Given the description of an element on the screen output the (x, y) to click on. 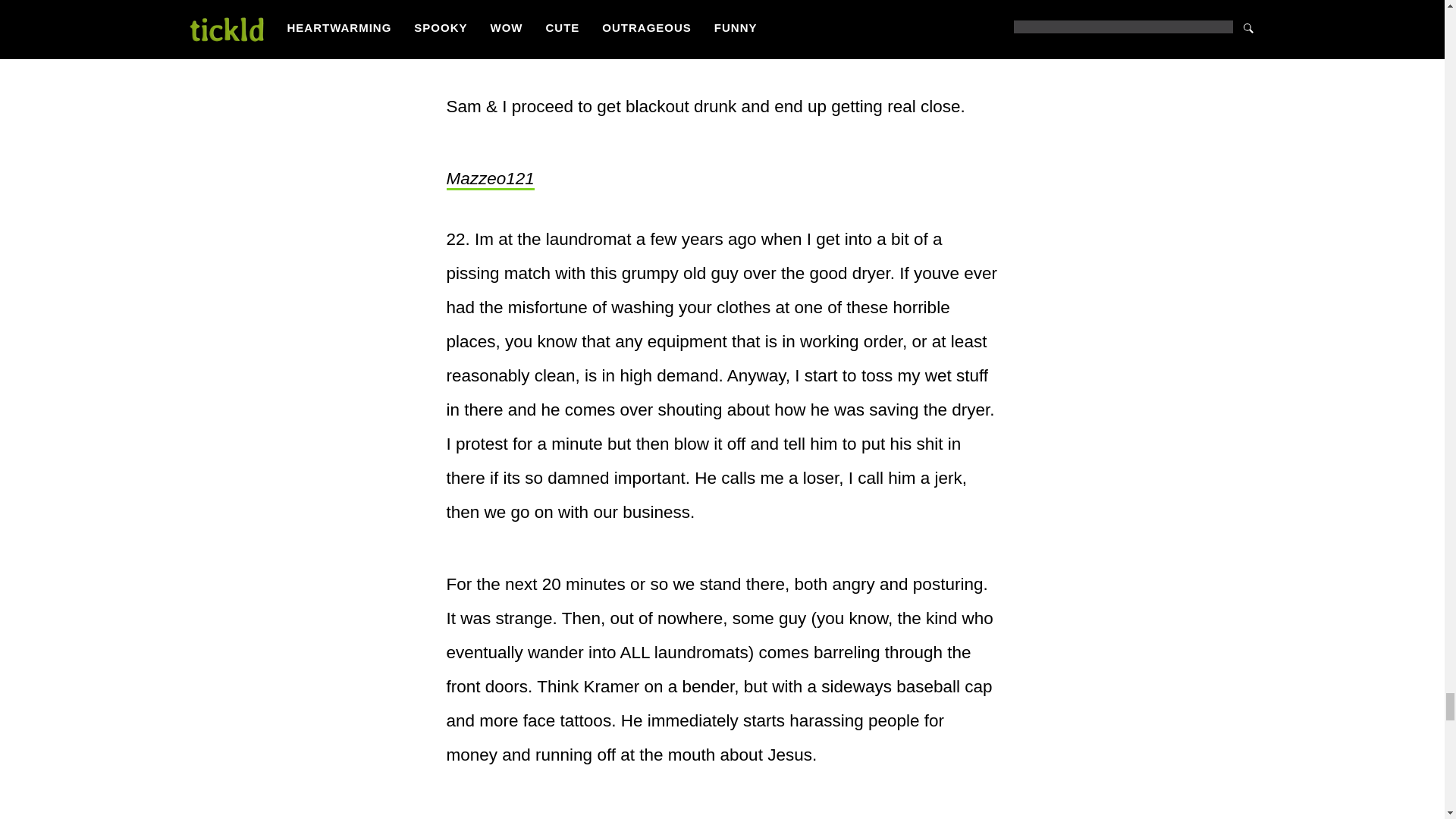
Mazzeo121 (489, 179)
